Given the description of an element on the screen output the (x, y) to click on. 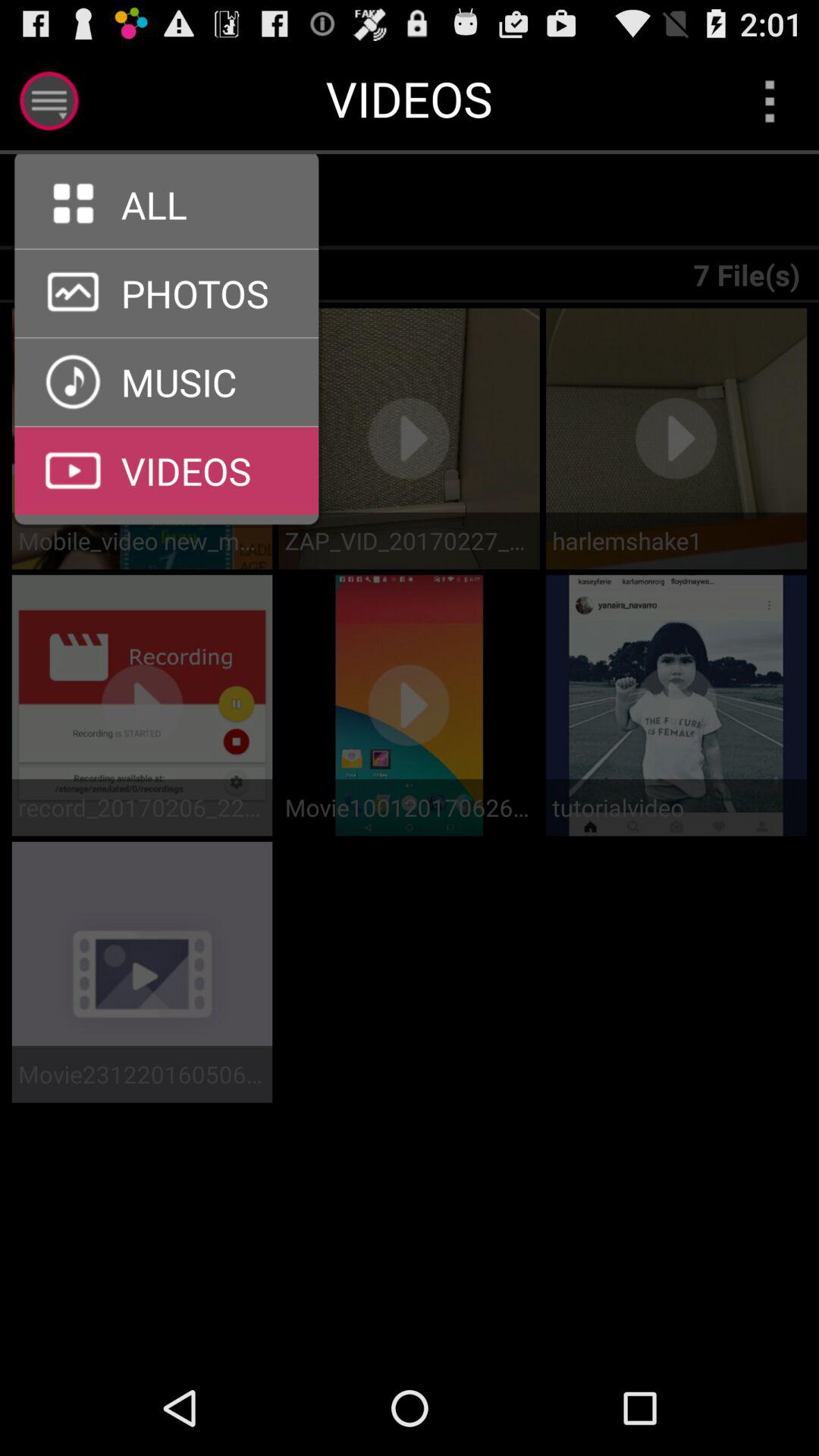
tap the icon next to the 7 file(s) (176, 201)
